Given the description of an element on the screen output the (x, y) to click on. 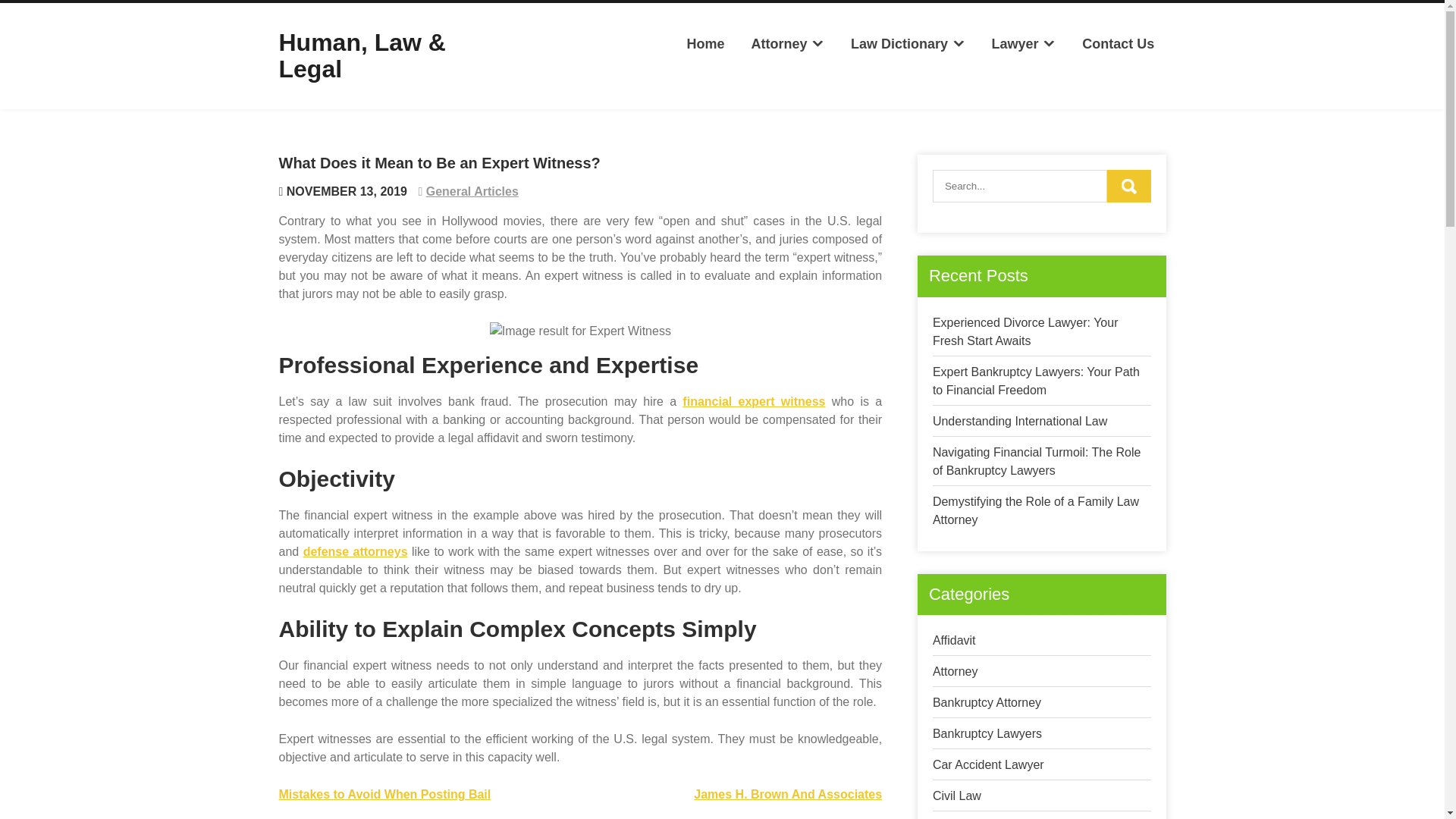
Search (1128, 185)
Car Accident Lawyer (988, 764)
Law Dictionary (908, 44)
defense attorneys (354, 551)
Bankruptcy Lawyers (987, 733)
Expert Bankruptcy Lawyers: Your Path to Financial Freedom (1036, 380)
Attorney (787, 44)
financial expert witness (753, 400)
Affidavit (954, 640)
Home (705, 44)
